Given the description of an element on the screen output the (x, y) to click on. 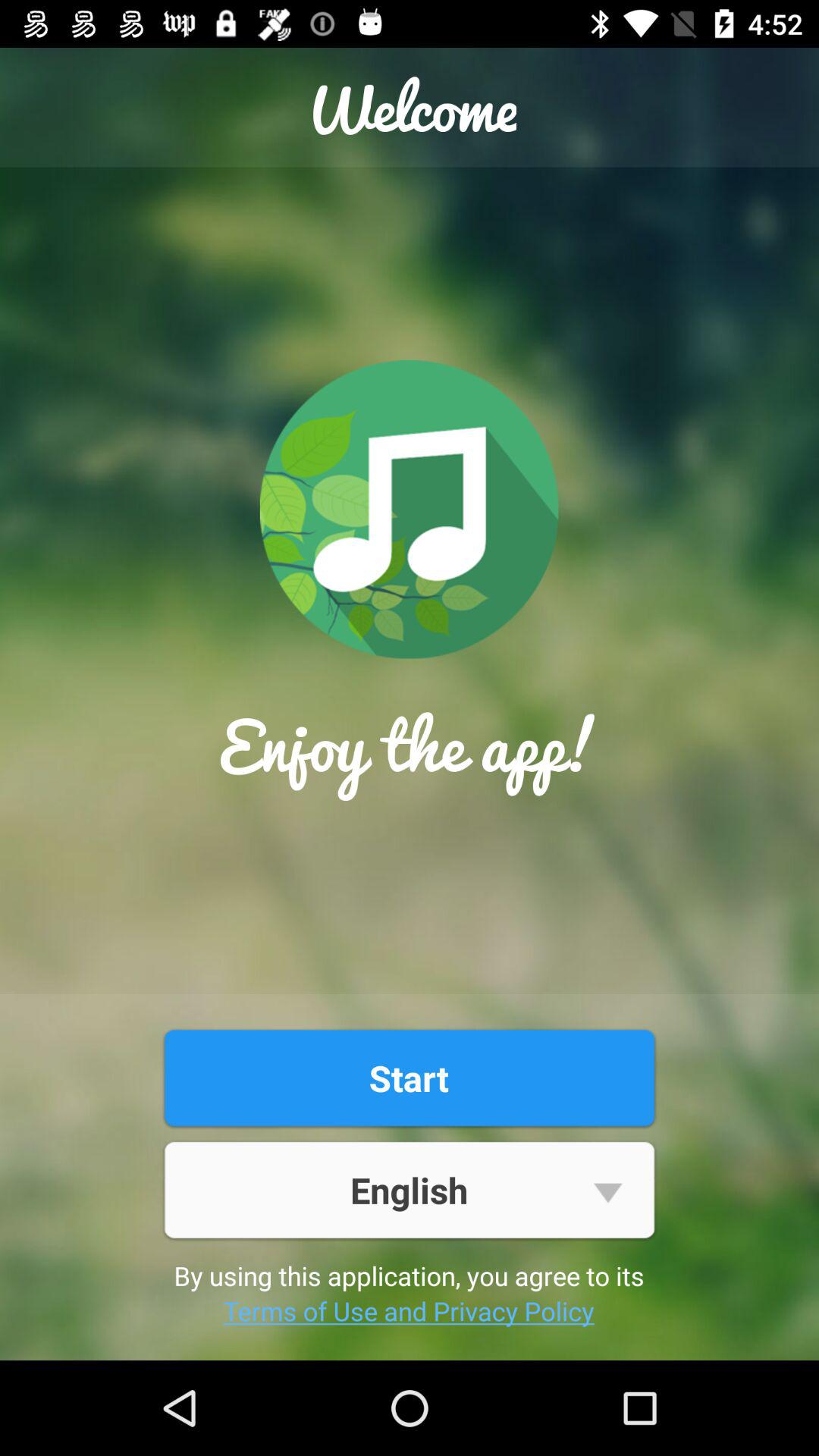
flip to english item (409, 1190)
